Given the description of an element on the screen output the (x, y) to click on. 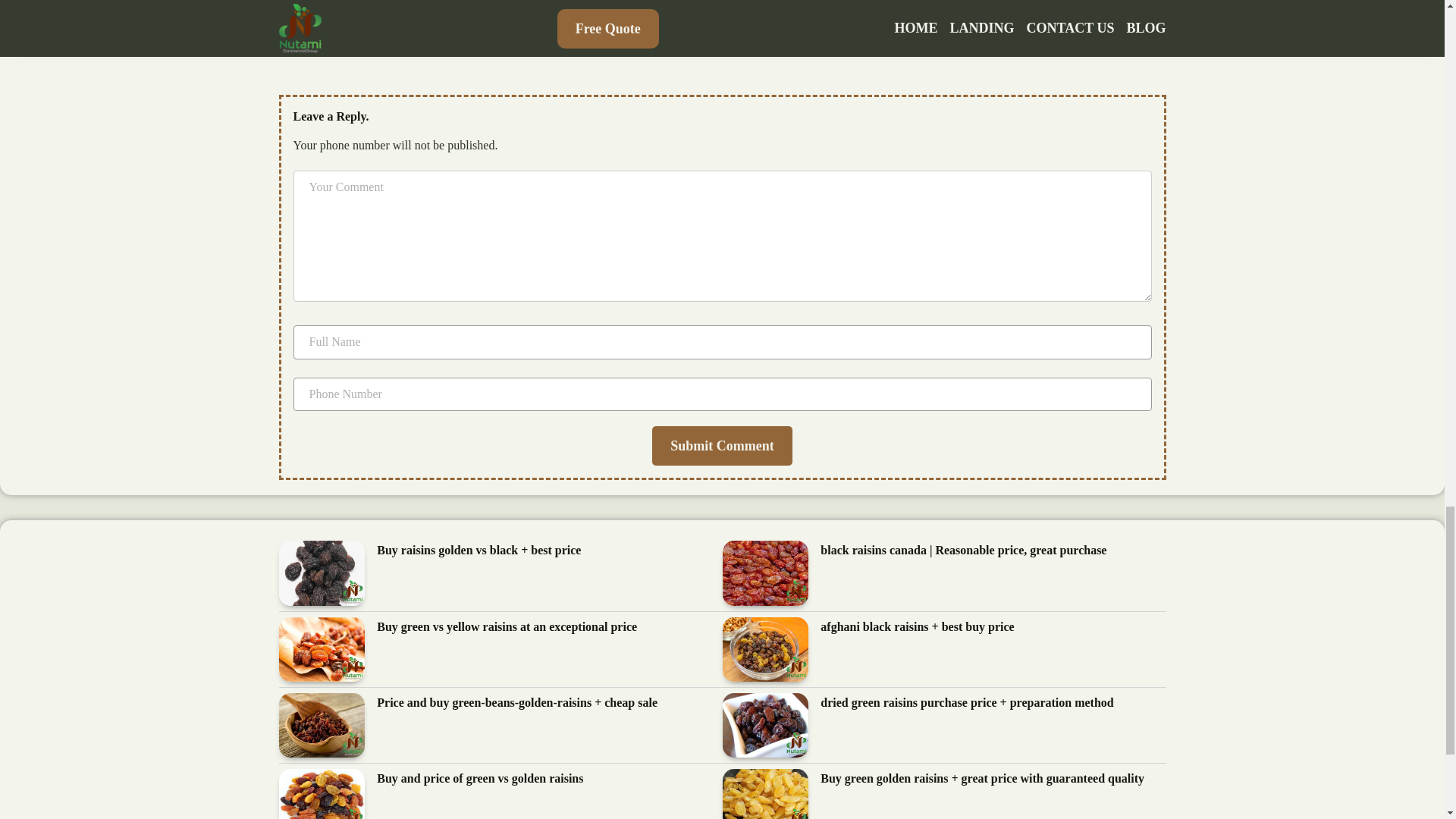
Submit Comment (722, 445)
Submit Comment (722, 445)
Buy green vs yellow raisins at an exceptional price (507, 627)
Buy and price of green vs golden raisins (480, 779)
